Given the description of an element on the screen output the (x, y) to click on. 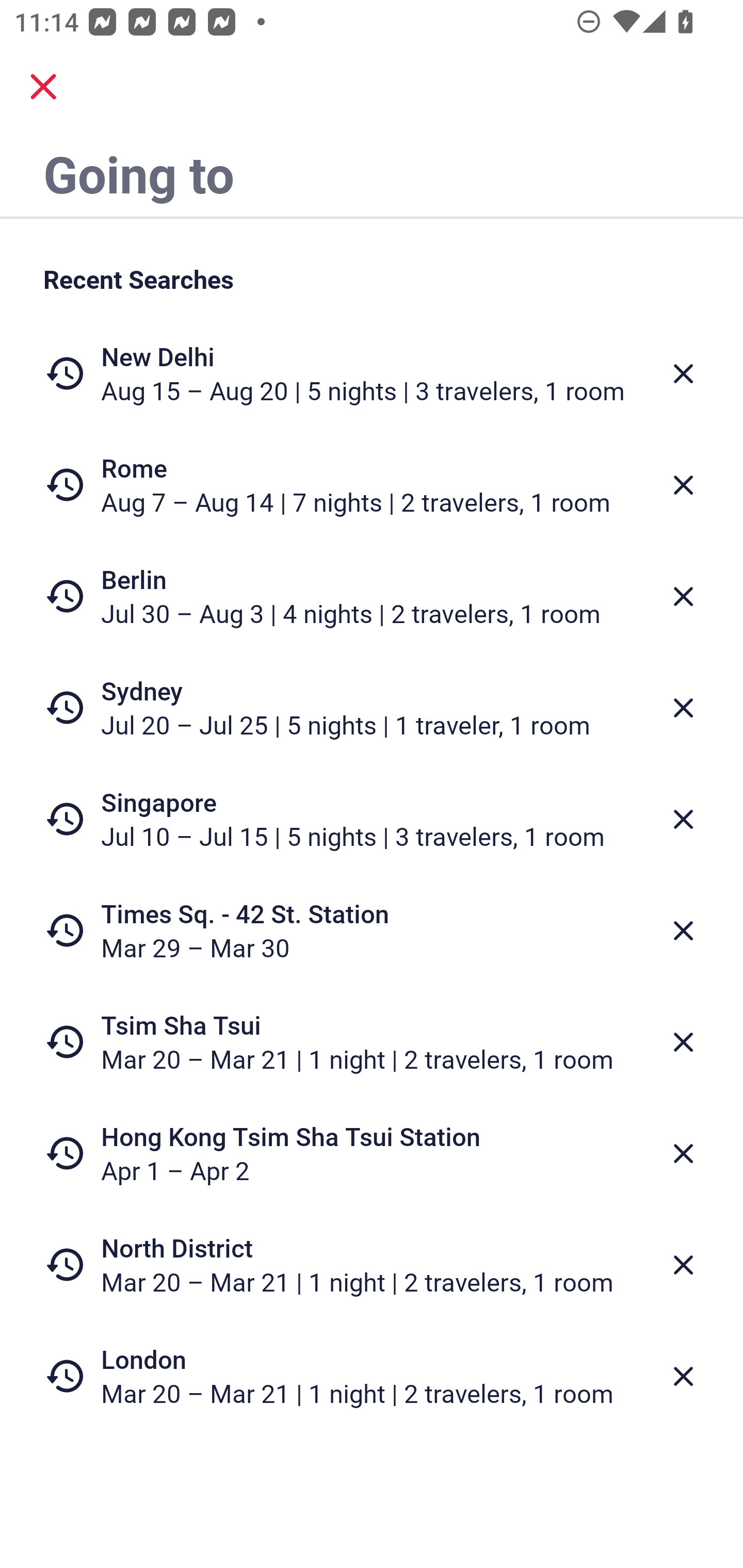
close. (43, 86)
Delete from recent searches (683, 373)
Delete from recent searches (683, 485)
Delete from recent searches (683, 596)
Delete from recent searches (683, 707)
Delete from recent searches (683, 819)
Times Sq. - 42 St. Station Mar 29 – Mar 30 (371, 930)
Delete from recent searches (683, 930)
Delete from recent searches (683, 1041)
Hong Kong Tsim Sha Tsui Station Apr 1 – Apr 2 (371, 1152)
Delete from recent searches (683, 1153)
Delete from recent searches (683, 1265)
Delete from recent searches (683, 1376)
